Given the description of an element on the screen output the (x, y) to click on. 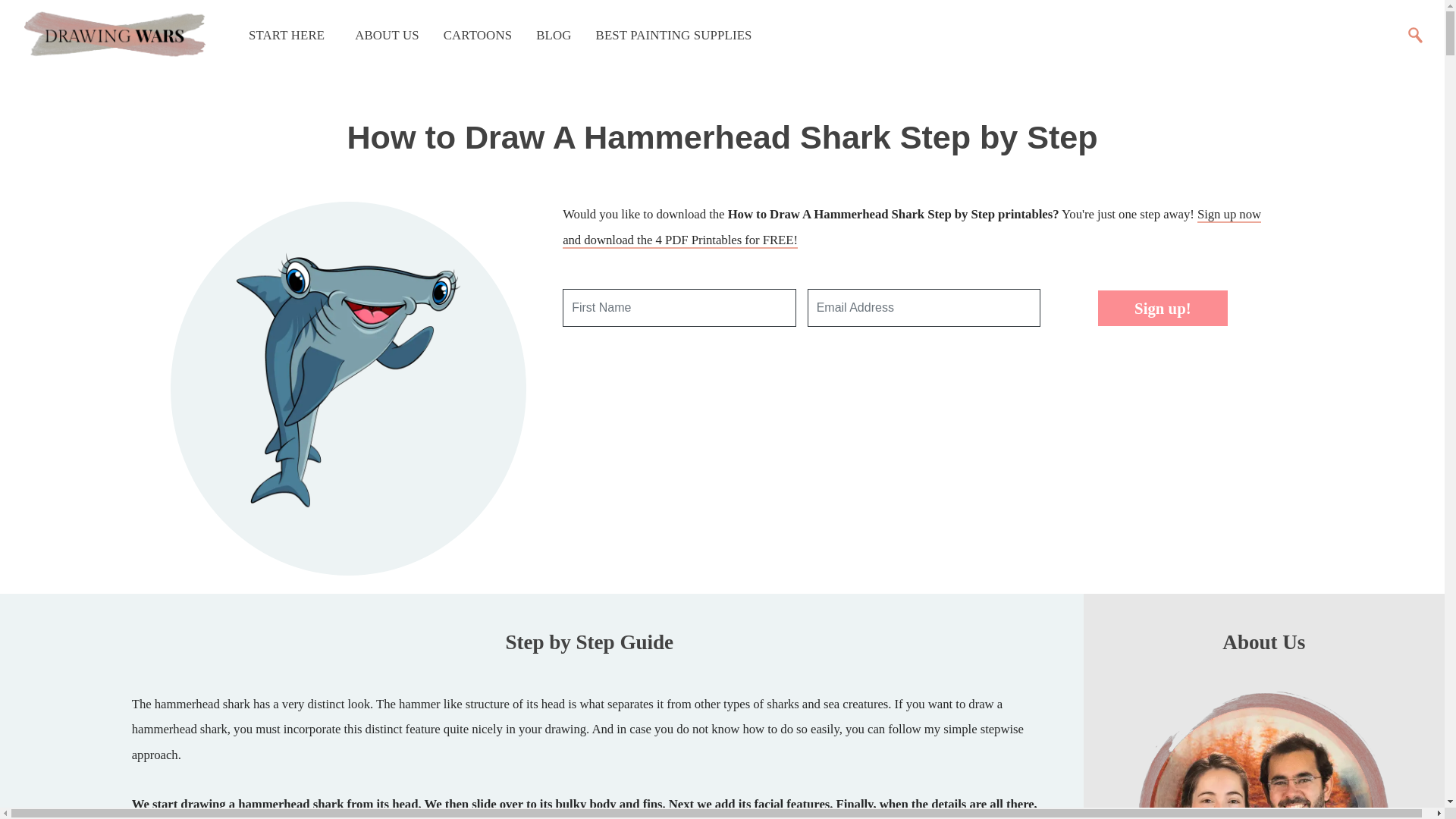
ABOUT US (383, 34)
BEST PAINTING SUPPLIES (673, 34)
BLOG (553, 34)
START HERE (283, 34)
Sign up! (1162, 307)
CARTOONS (477, 34)
